Given the description of an element on the screen output the (x, y) to click on. 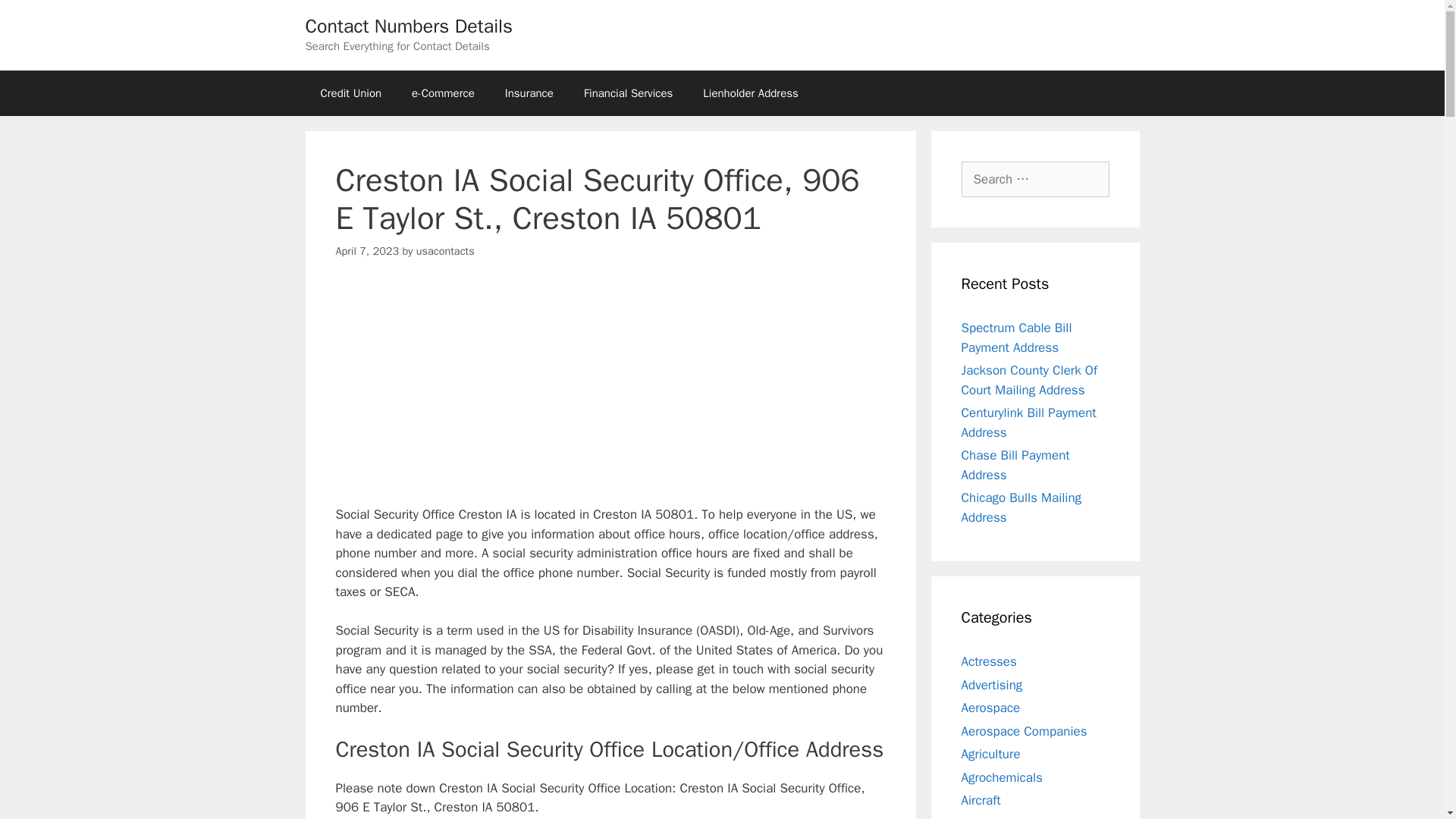
Spectrum Cable Bill Payment Address (1015, 337)
Jackson County Clerk Of Court Mailing Address (1028, 380)
Chase Bill Payment Address (1015, 465)
usacontacts (445, 250)
Advertising (991, 684)
Contact Numbers Details (408, 25)
Advertisement (609, 391)
Credit Union (350, 92)
View all posts by usacontacts (445, 250)
Actresses (988, 661)
